Given the description of an element on the screen output the (x, y) to click on. 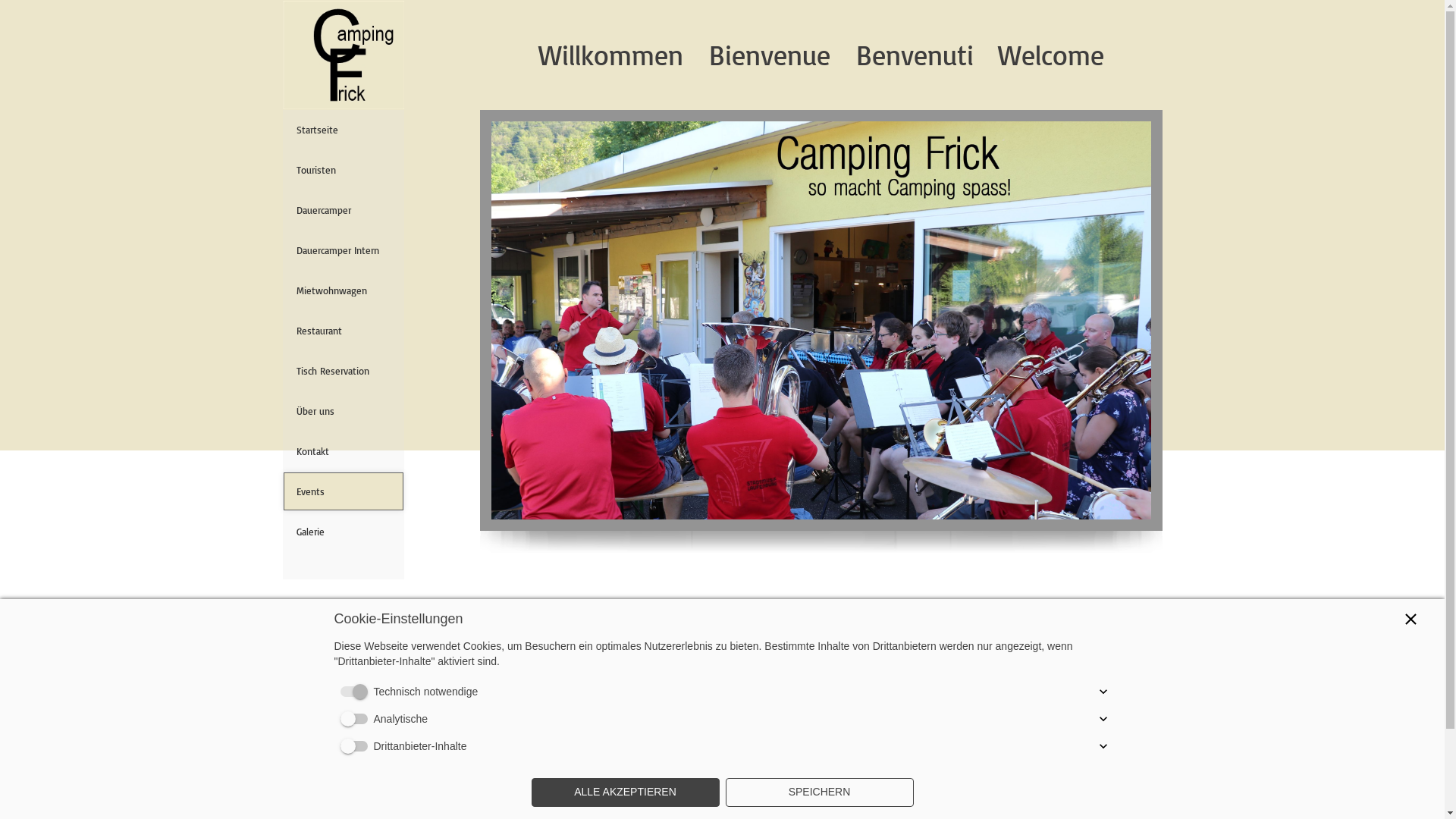
Dauercamper Element type: text (342, 209)
Touristen Element type: text (342, 169)
Mietwohnwagen Element type: text (342, 290)
mehr Element type: text (349, 661)
Startseite Element type: text (342, 129)
Galerie Element type: text (342, 531)
Restaurant Element type: text (342, 330)
ALLE AKZEPTIEREN Element type: text (624, 792)
SPEICHERN Element type: text (818, 792)
Events Element type: text (342, 491)
Tisch Reservation Element type: text (342, 370)
Dauercamper Intern Element type: text (342, 250)
Kontakt Element type: text (342, 451)
